Given the description of an element on the screen output the (x, y) to click on. 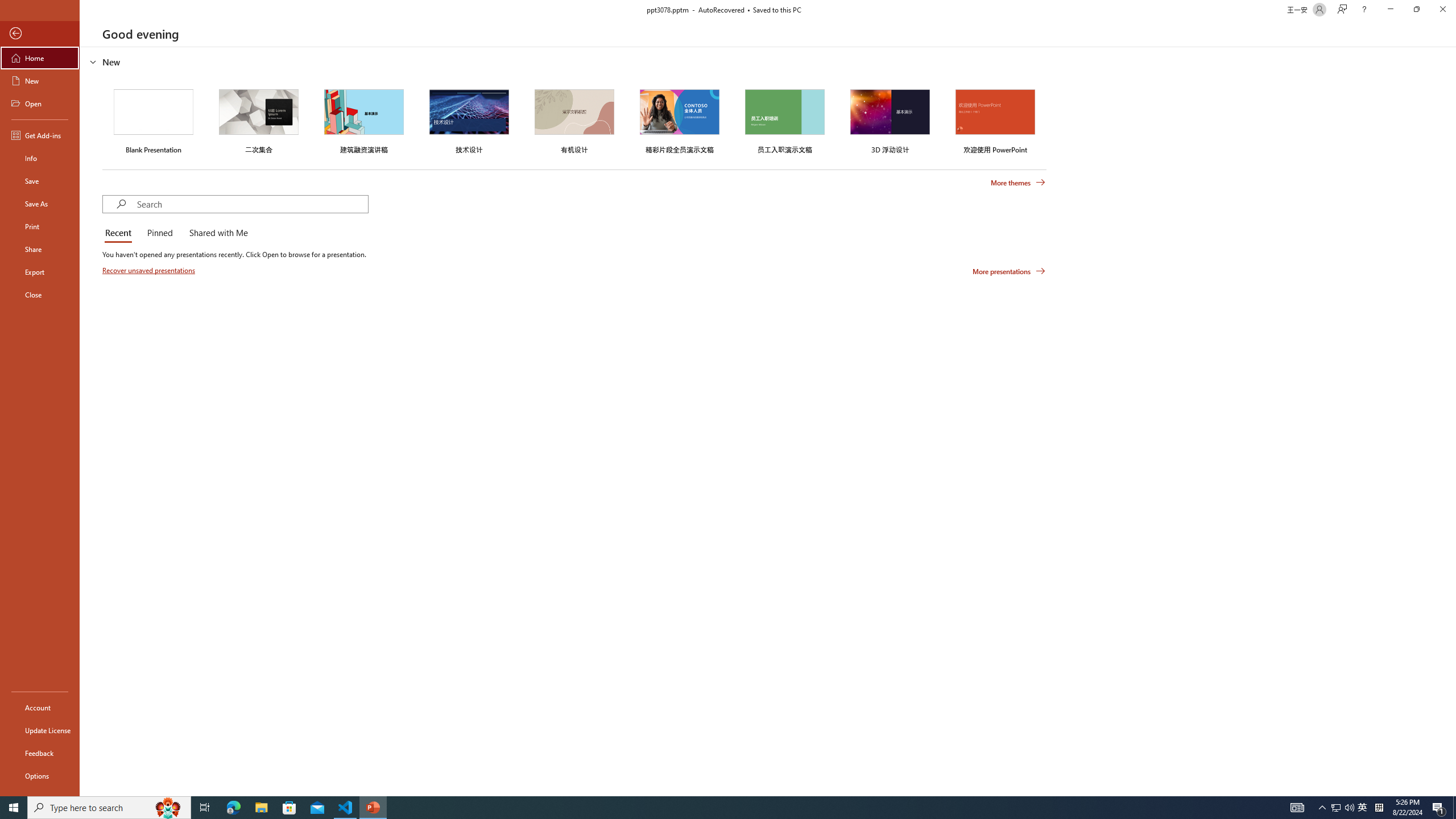
No Problems (121, 766)
remote (69, 766)
Restore Panel Size (1005, 182)
wangyian_webcrawler - DSW (23, 249)
icon (976, 114)
